Given the description of an element on the screen output the (x, y) to click on. 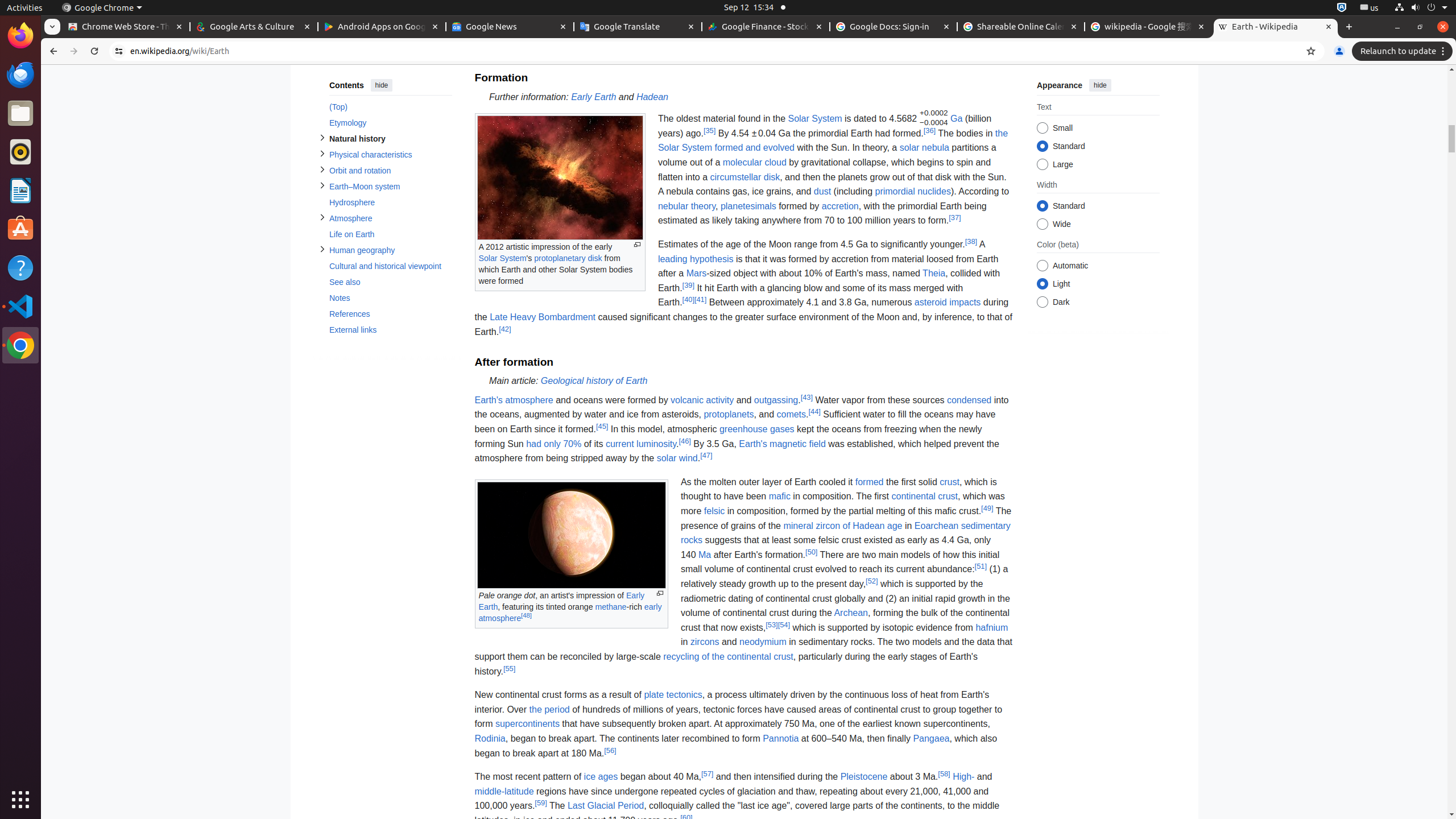
[39] Element type: link (687, 284)
[50] Element type: link (811, 551)
Relaunch to update Element type: push-button (1403, 50)
Bookmark this tab Element type: push-button (1310, 51)
the Solar System formed and evolved Element type: link (832, 139)
